Given the description of an element on the screen output the (x, y) to click on. 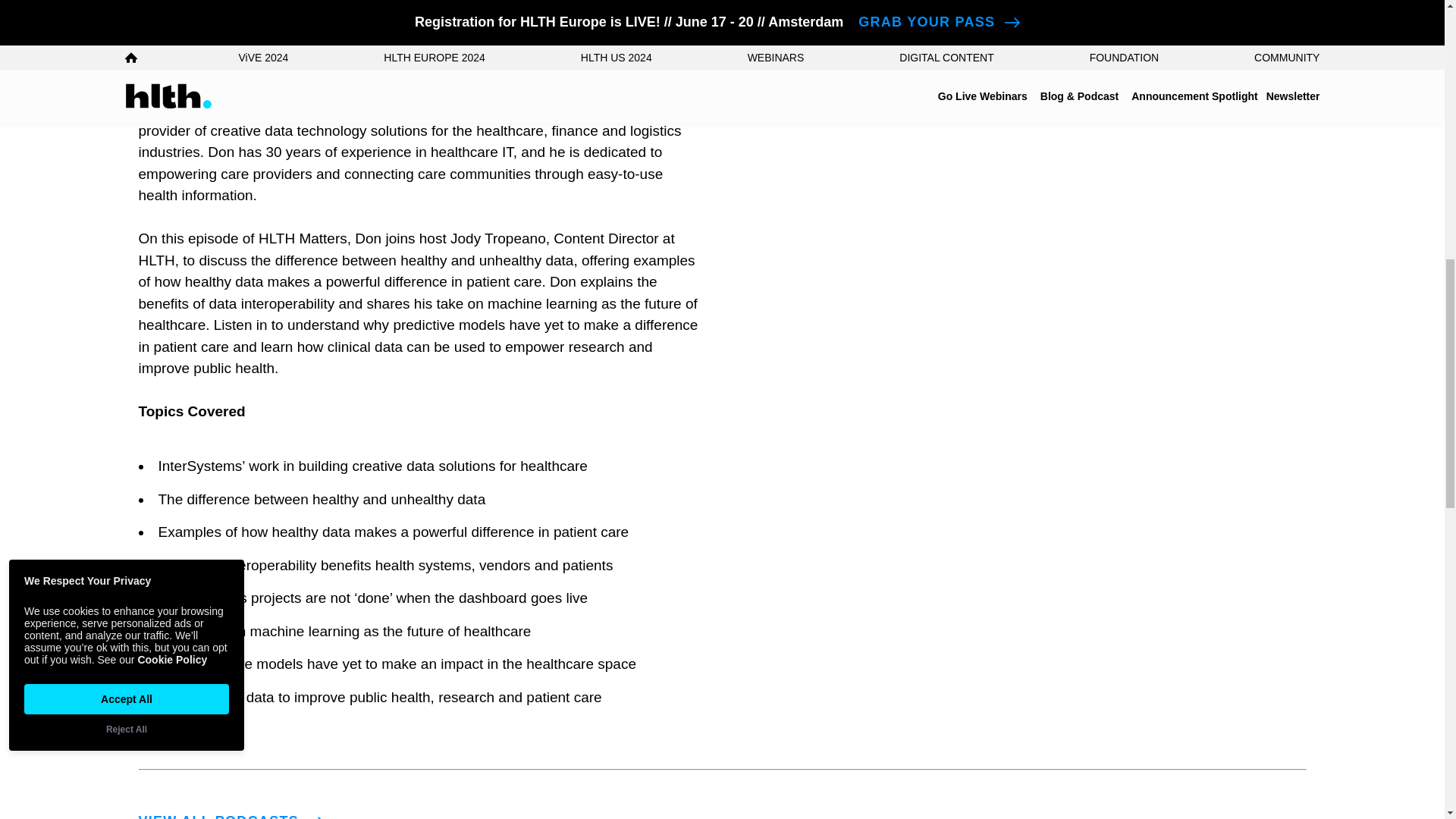
VIEW ALL PODCASTS (235, 813)
VIEW ALL PODCASTS (235, 813)
